Given the description of an element on the screen output the (x, y) to click on. 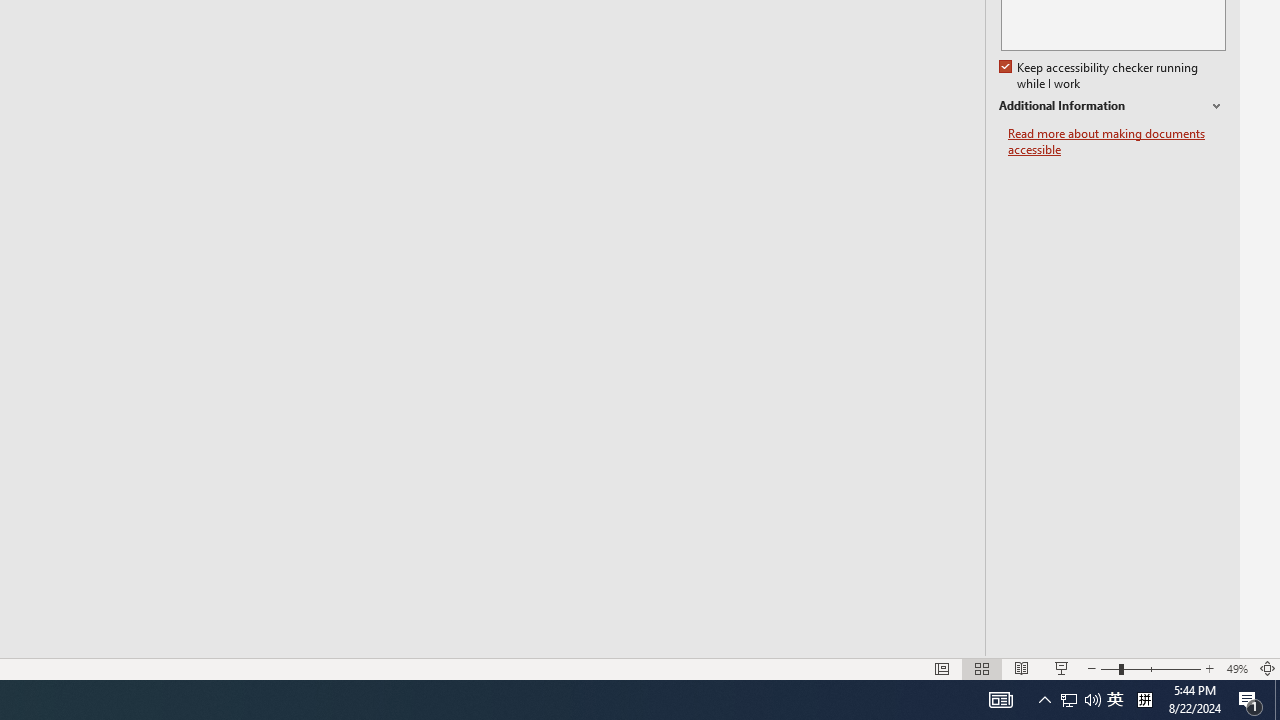
Keep accessibility checker running while I work (1099, 76)
Additional Information (1112, 106)
Zoom 49% (1236, 668)
Read more about making documents accessible (1117, 142)
